Given the description of an element on the screen output the (x, y) to click on. 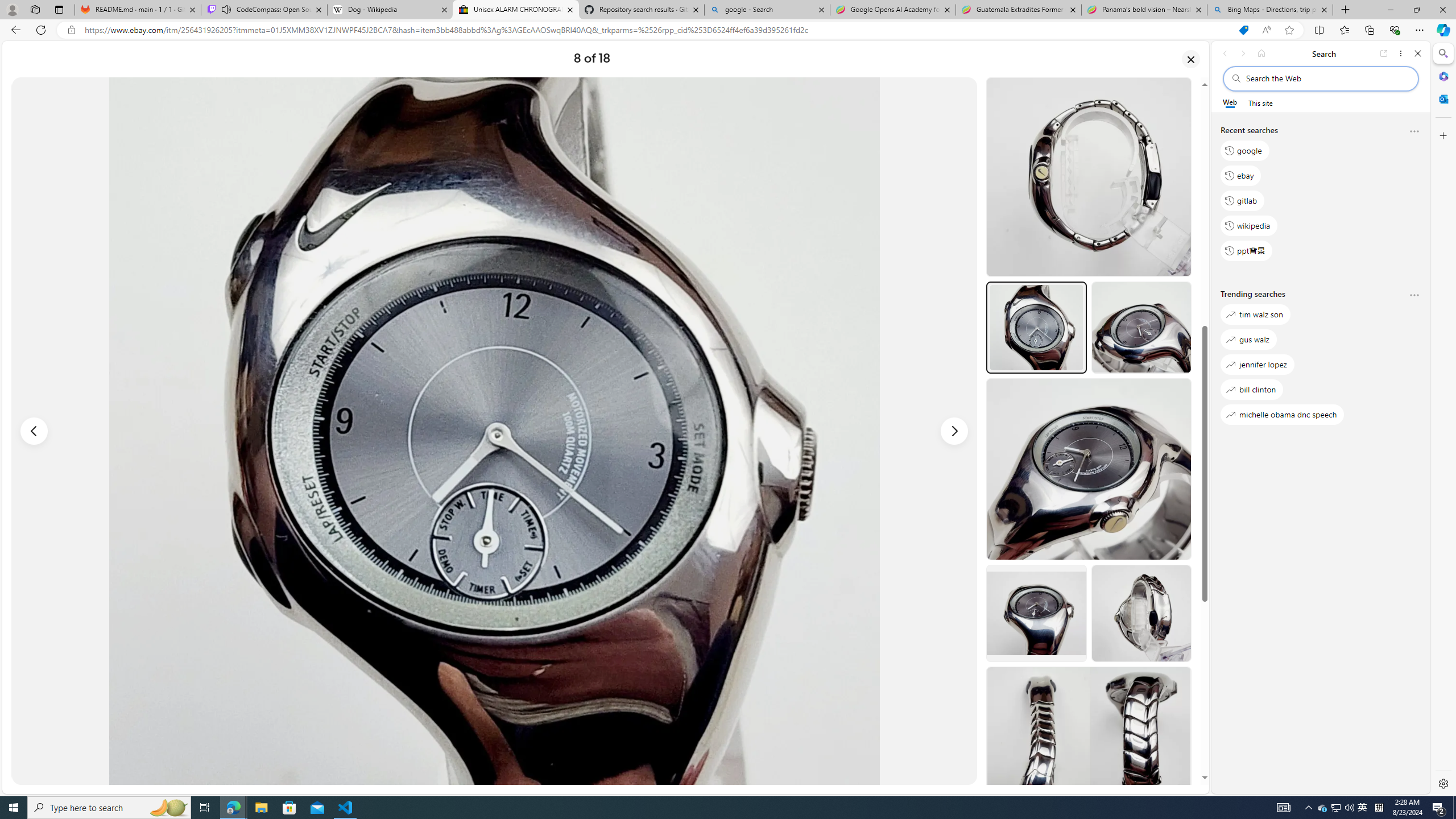
Google Opens AI Academy for Startups - Nearshore Americas (892, 9)
Close image gallery dialog (1190, 58)
ebay (1240, 175)
You have the best price! Shopping in Microsoft Edge (1243, 29)
Picture 8 of 18 (493, 430)
